Given the description of an element on the screen output the (x, y) to click on. 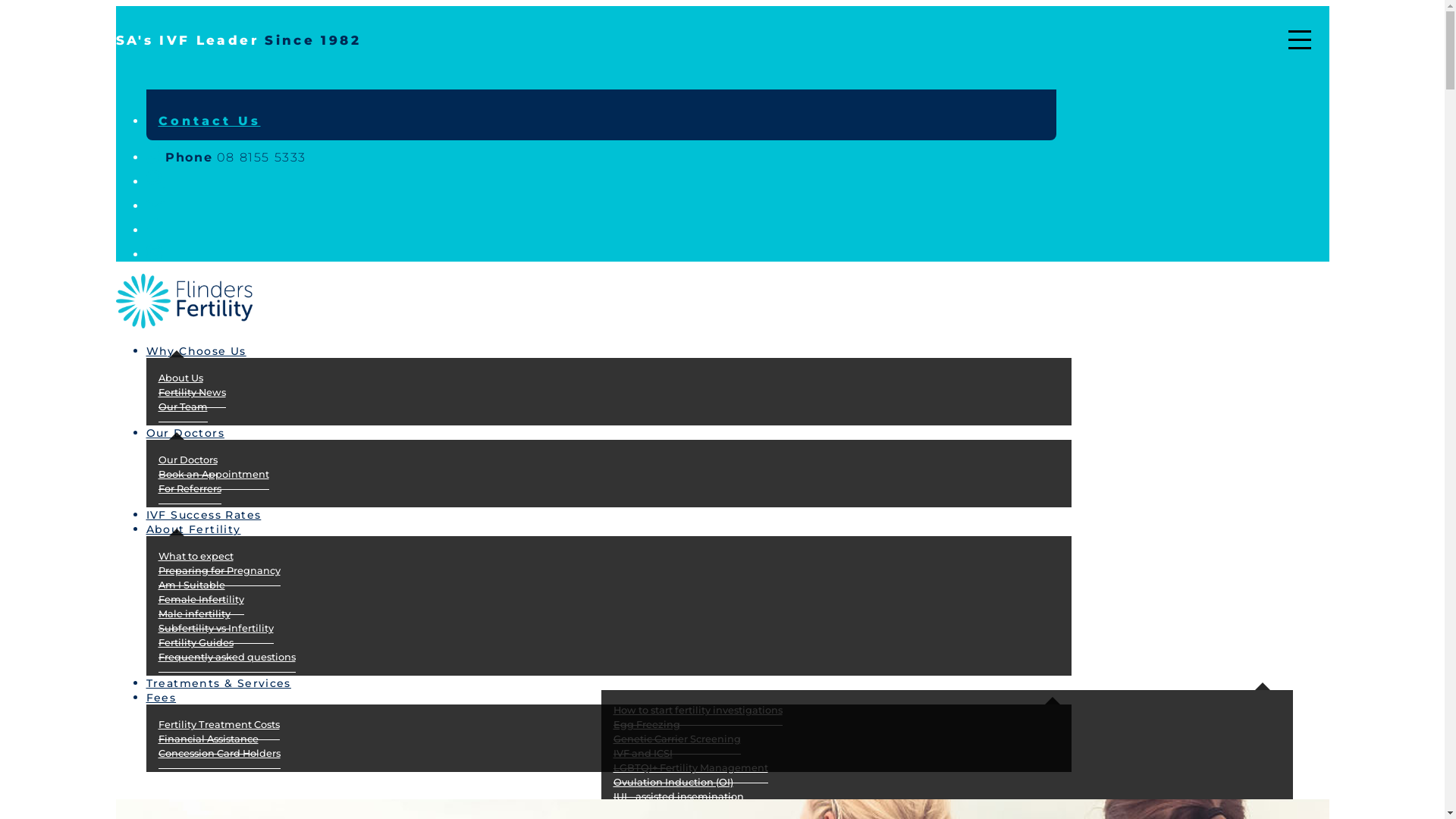
Facebook Element type: text (150, 229)
LGBTQI+ Fertility Management Element type: text (689, 768)
Fertility Guides Element type: text (194, 642)
Am I Suitable Element type: text (190, 585)
Preparing for Pregnancy Element type: text (218, 570)
Genetic Carrier Screening Element type: text (676, 739)
Our Doctors Element type: text (186, 460)
Financial Assistance Element type: text (207, 739)
Instagram Element type: text (153, 254)
Female Infertility Element type: text (200, 599)
IVF Success Rates Element type: text (215, 511)
Our Doctors Element type: text (196, 429)
Contact Us Element type: text (208, 120)
How to start fertility investigations Element type: text (696, 710)
Treatments & Services Element type: text (229, 680)
IUI - assisted insemination Element type: text (677, 796)
Why Choose Us Element type: text (207, 347)
Email icon Element type: text (154, 205)
Book an Appointment Element type: text (212, 474)
For Referrers Element type: text (188, 488)
Our Team Element type: text (182, 407)
Fertility News Element type: text (191, 392)
IVF and ICSI Element type: text (641, 753)
Ovulation Induction (OI) Element type: text (672, 782)
Search Element type: text (154, 181)
Frequently asked questions Element type: text (225, 657)
Subfertility vs Infertility Element type: text (215, 628)
Fertility Treatment Costs Element type: text (218, 724)
Concession Card Holders Element type: text (218, 753)
Male infertility Element type: text (193, 614)
About Us Element type: text (179, 378)
Egg Freezing Element type: text (645, 724)
About Fertility Element type: text (204, 526)
What to expect Element type: text (194, 556)
Fees Element type: text (160, 694)
